Given the description of an element on the screen output the (x, y) to click on. 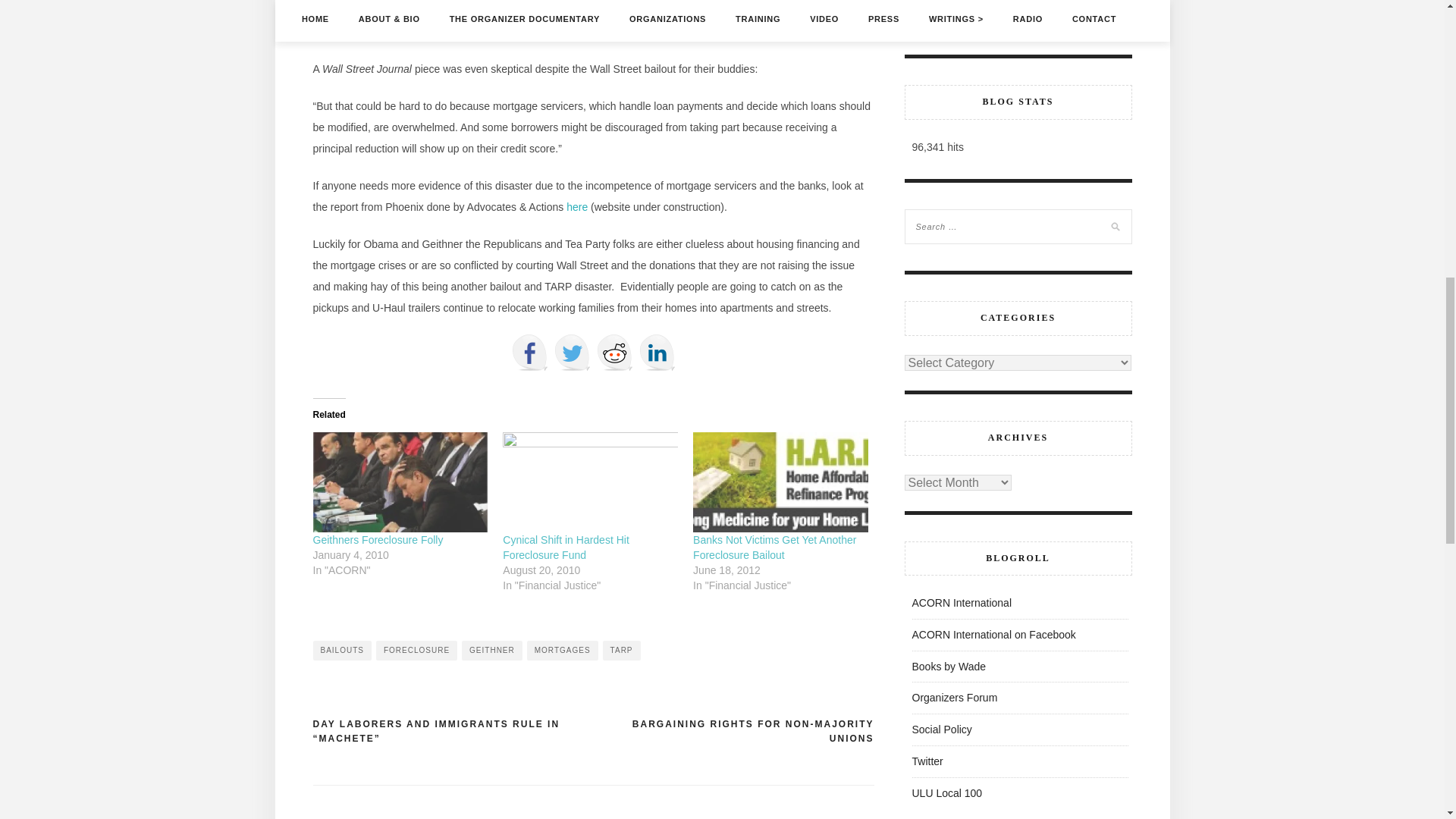
BAILOUTS (342, 650)
Banks Not Victims Get Yet Another Foreclosure Bailout (774, 547)
Share on Reddit (613, 352)
MORTGAGES (562, 650)
TARP (621, 650)
Geithners Foreclosure Folly (377, 539)
Share on Facebook (529, 352)
Share on Twitter (571, 352)
GEITHNER (491, 650)
Share on LinkedIn (657, 352)
